Given the description of an element on the screen output the (x, y) to click on. 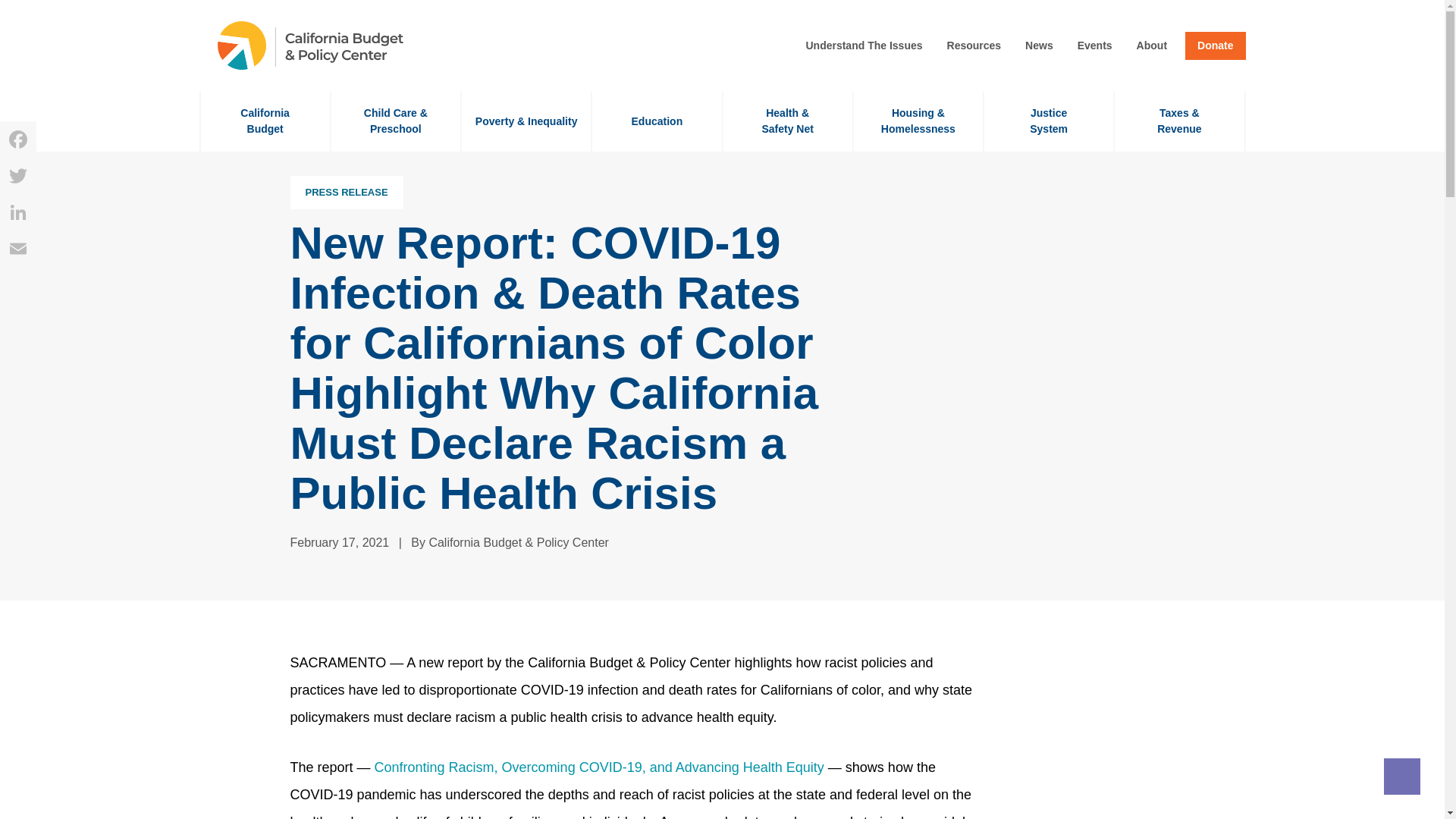
News (1039, 45)
Events (1094, 45)
Education (656, 120)
Twitter (18, 176)
Resources (973, 45)
Understand The Issues (863, 45)
About (1152, 45)
LinkedIn (264, 120)
